Given the description of an element on the screen output the (x, y) to click on. 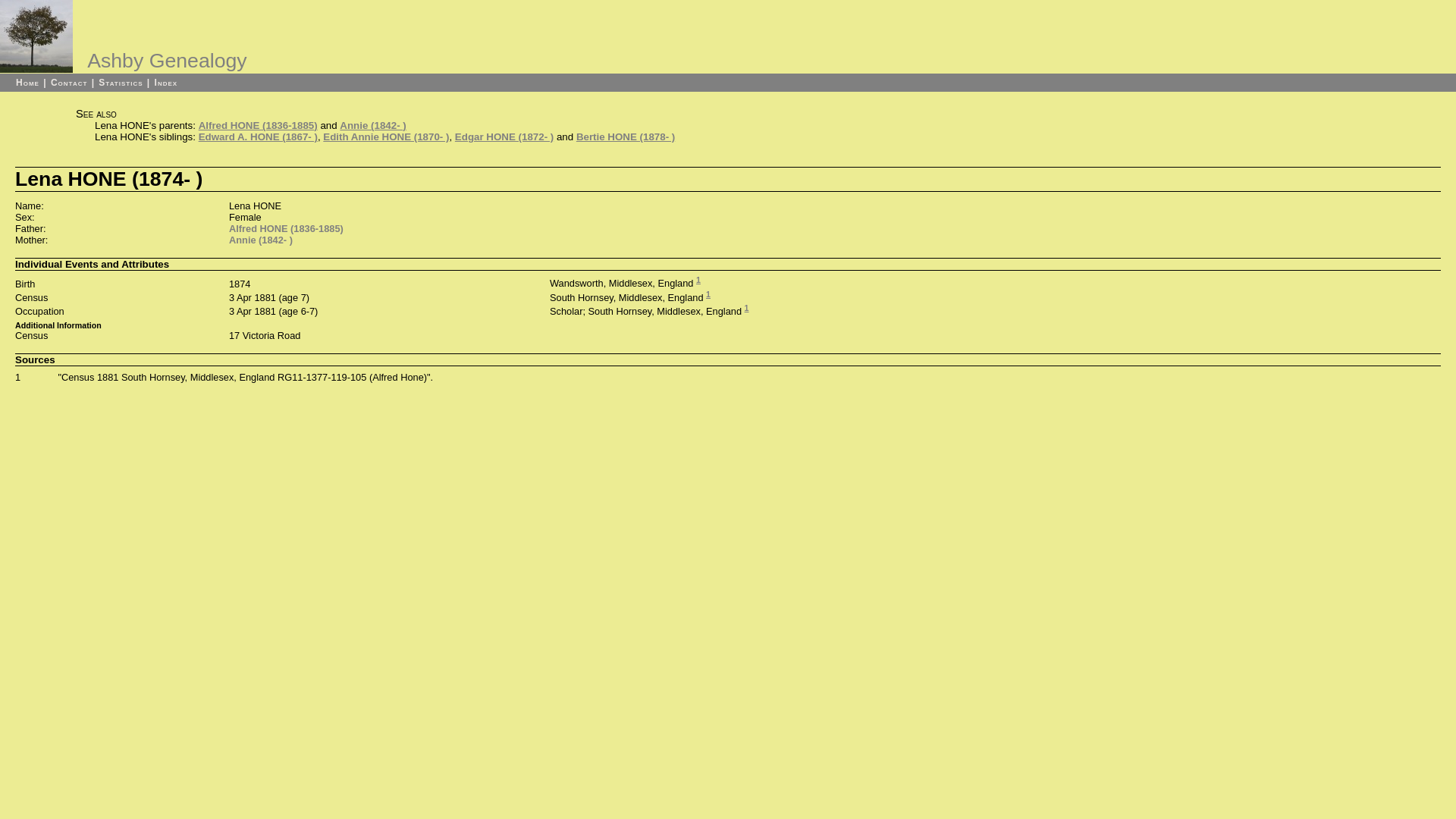
Statistics Element type: text (120, 82)
Annie (1842- ) Element type: text (260, 239)
Edgar HONE (1872- ) Element type: text (504, 136)
1 Element type: text (17, 376)
Alfred HONE (1836-1885) Element type: text (257, 125)
Edward A. HONE (1867- ) Element type: text (257, 136)
1 Element type: text (746, 307)
Alfred HONE (1836-1885) Element type: text (286, 228)
Index Element type: text (165, 82)
Bertie HONE (1878- ) Element type: text (625, 136)
Annie (1842- ) Element type: text (372, 125)
1 Element type: text (698, 279)
Contact Element type: text (68, 82)
1 Element type: text (708, 293)
Edith Annie HONE (1870- ) Element type: text (385, 136)
Home Element type: text (27, 82)
